Given the description of an element on the screen output the (x, y) to click on. 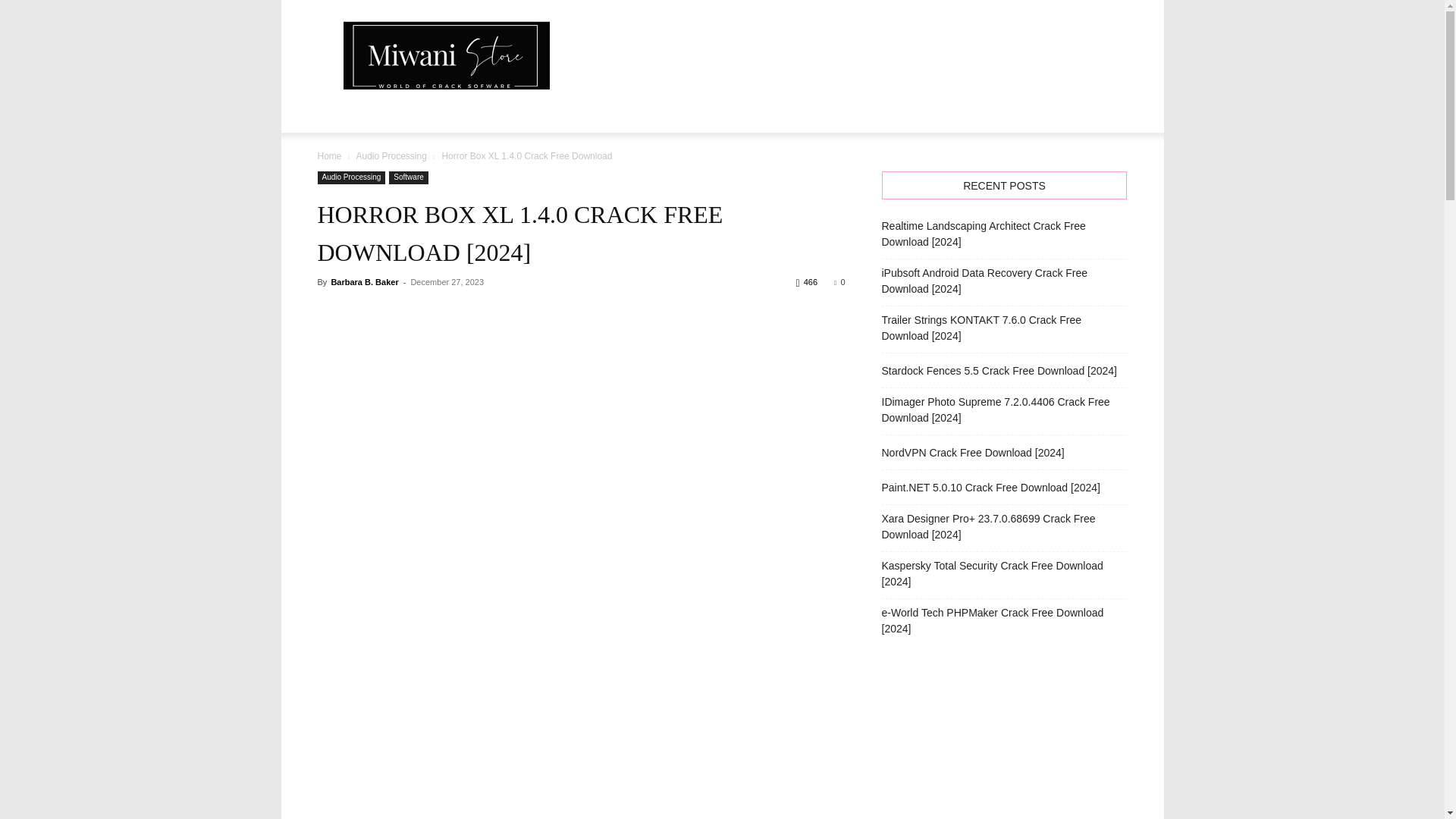
Software (408, 177)
Search (1085, 174)
PRIVACY POLICY (589, 114)
View all posts in Audio Processing (390, 155)
HOME (343, 114)
CONTACT US (490, 114)
Audio Processing (390, 155)
ABOUT US (407, 114)
Audio Processing (351, 177)
Barbara B. Baker (363, 281)
Home (328, 155)
0 (839, 281)
